Given the description of an element on the screen output the (x, y) to click on. 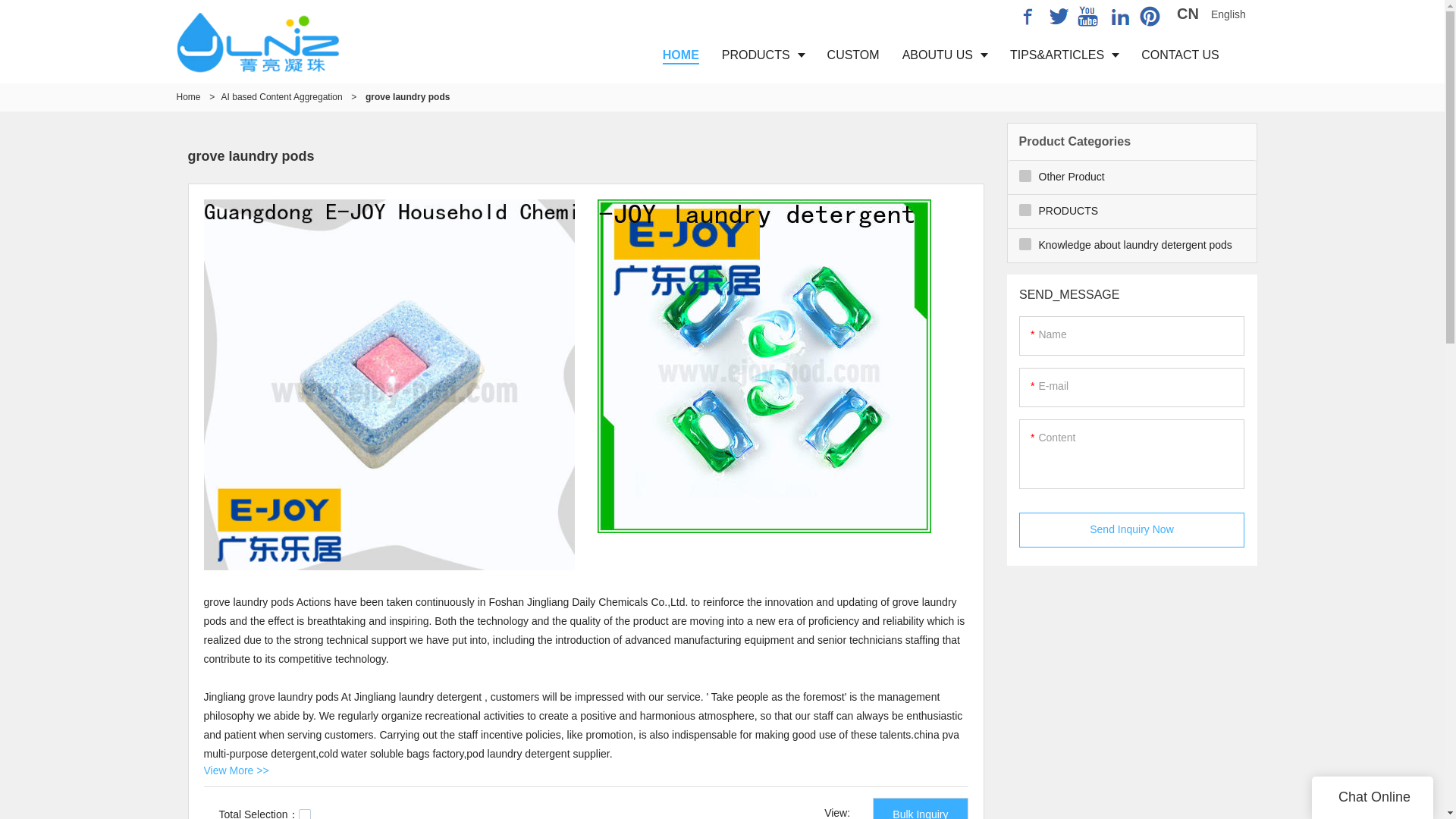
on (304, 814)
ABOUTU US (944, 55)
CN (1187, 15)
AI based Content Aggregation (281, 96)
PRODUCTS (762, 55)
HOME (680, 55)
CUSTOM (853, 55)
CONTACT US (1179, 55)
Home (188, 96)
